Given the description of an element on the screen output the (x, y) to click on. 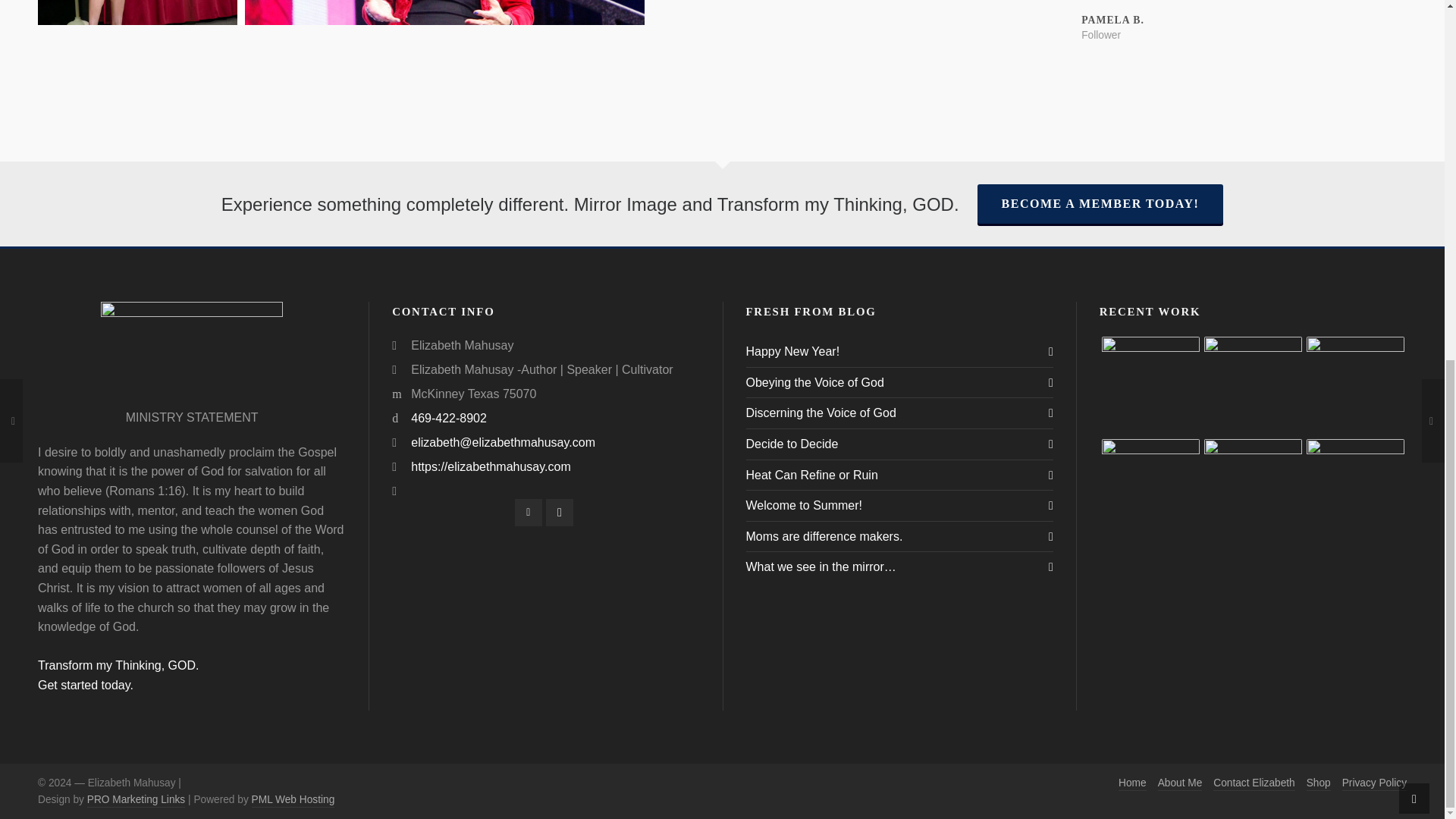
Learn More About My Marriage Story (1355, 385)
469-422-8902 (448, 418)
1st Baptist Spur Retreat (1355, 487)
Mops Presentation (118, 675)
Premier Designs Presentations (1150, 385)
Six Words That Have the Power to Transform Your Life (1252, 487)
Cali Mission Trip (1150, 487)
Follower (1252, 385)
BECOME A MEMBER TODAY! (1101, 35)
